Given the description of an element on the screen output the (x, y) to click on. 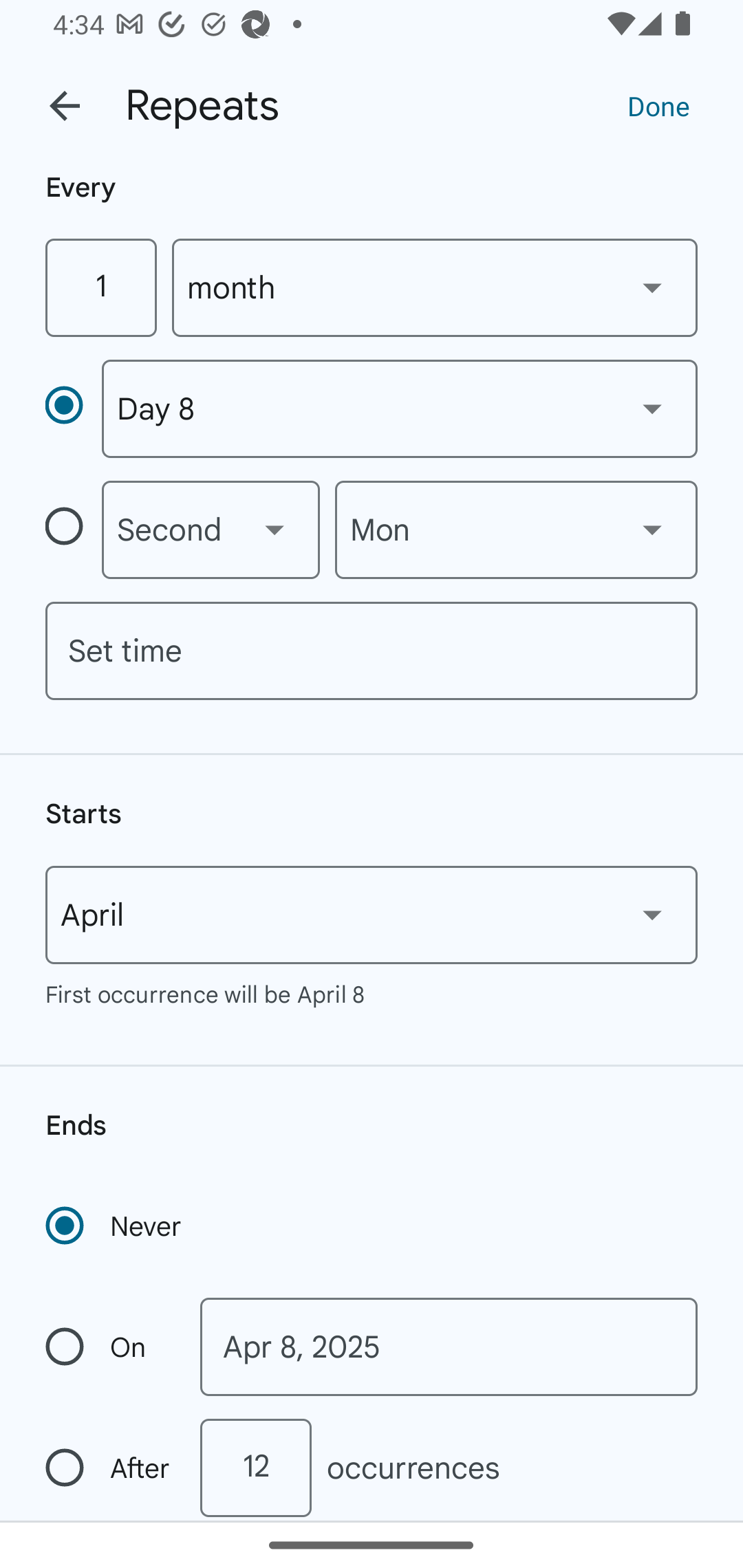
Back (64, 105)
Done (658, 105)
1 (100, 287)
month (434, 287)
Show dropdown menu (652, 286)
Day 8 (399, 408)
Show dropdown menu (652, 408)
Repeat monthly on a specific day of the month (73, 408)
Second (210, 529)
Mon (516, 529)
Show dropdown menu (274, 529)
Show dropdown menu (652, 529)
Repeat monthly on a specific weekday (73, 529)
Set time (371, 650)
April (371, 914)
Show dropdown menu (652, 913)
Never Recurrence never ends (115, 1225)
Apr 8, 2025 (448, 1346)
On Recurrence ends on a specific date (109, 1346)
12 (255, 1468)
